Given the description of an element on the screen output the (x, y) to click on. 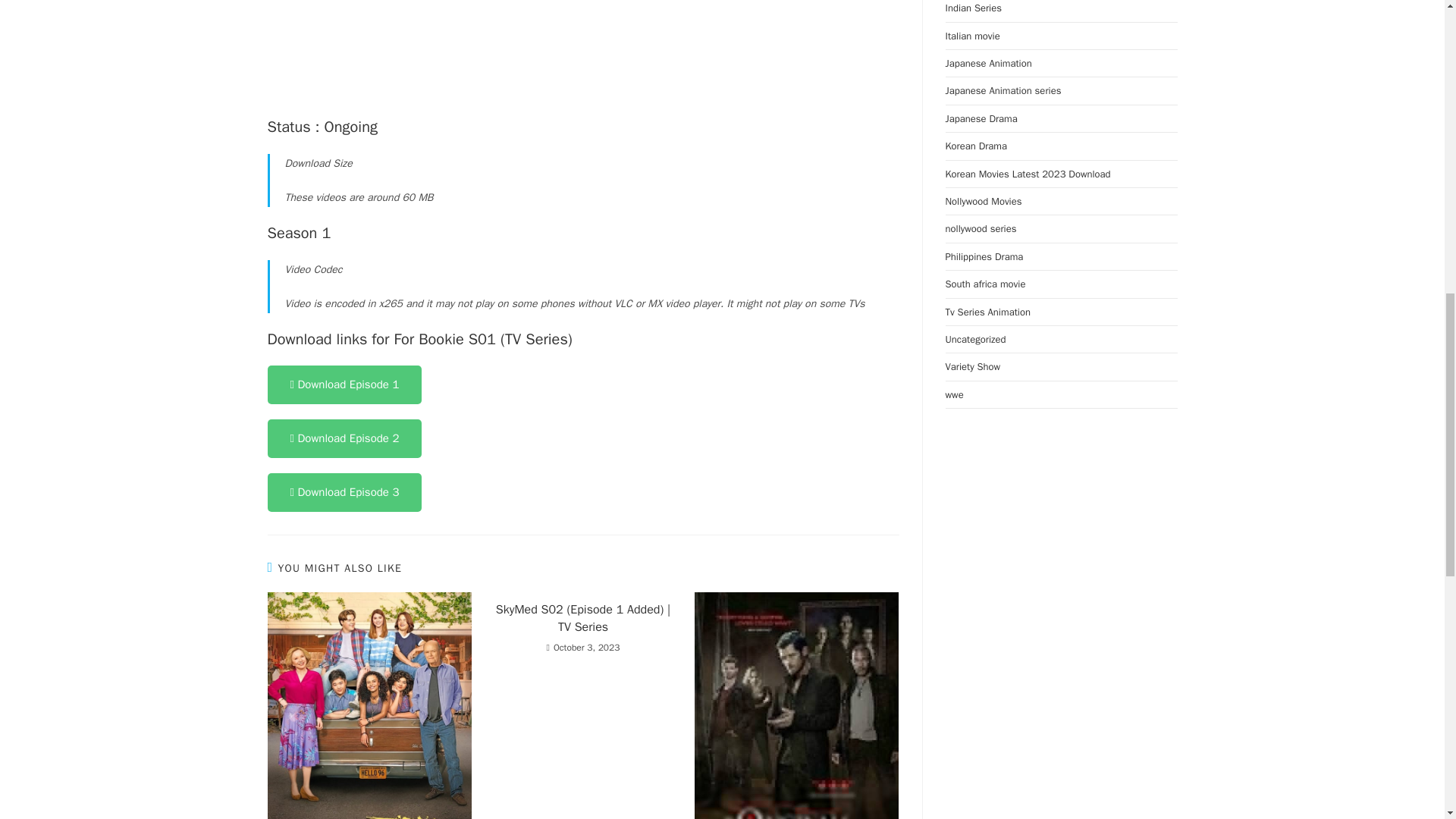
Download That 90S Show (368, 705)
Download That 90S Show (796, 705)
